Given the description of an element on the screen output the (x, y) to click on. 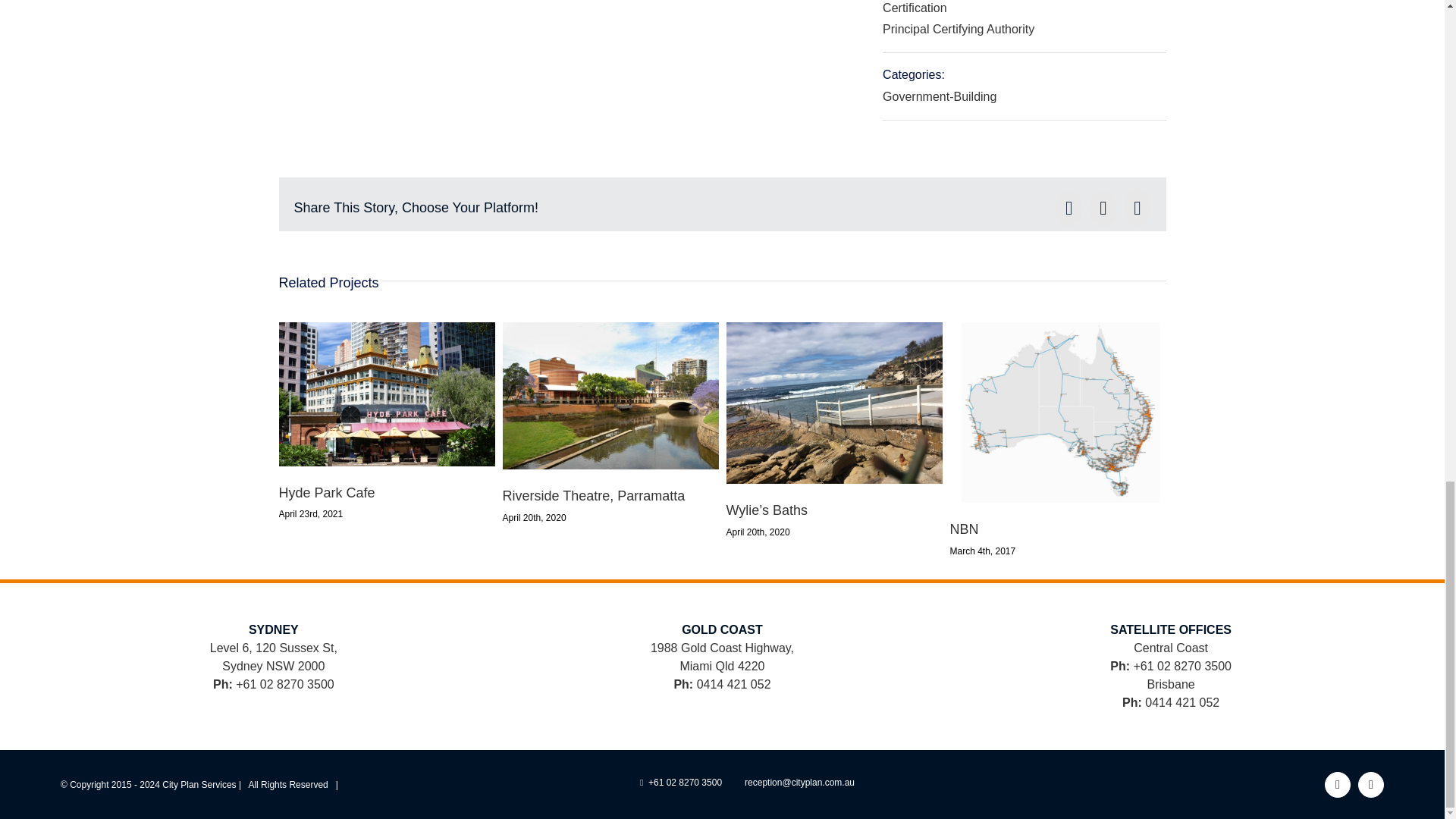
Hyde Park Cafe (327, 492)
NBN (963, 529)
Riverside Theatre, Parramatta (593, 495)
